Given the description of an element on the screen output the (x, y) to click on. 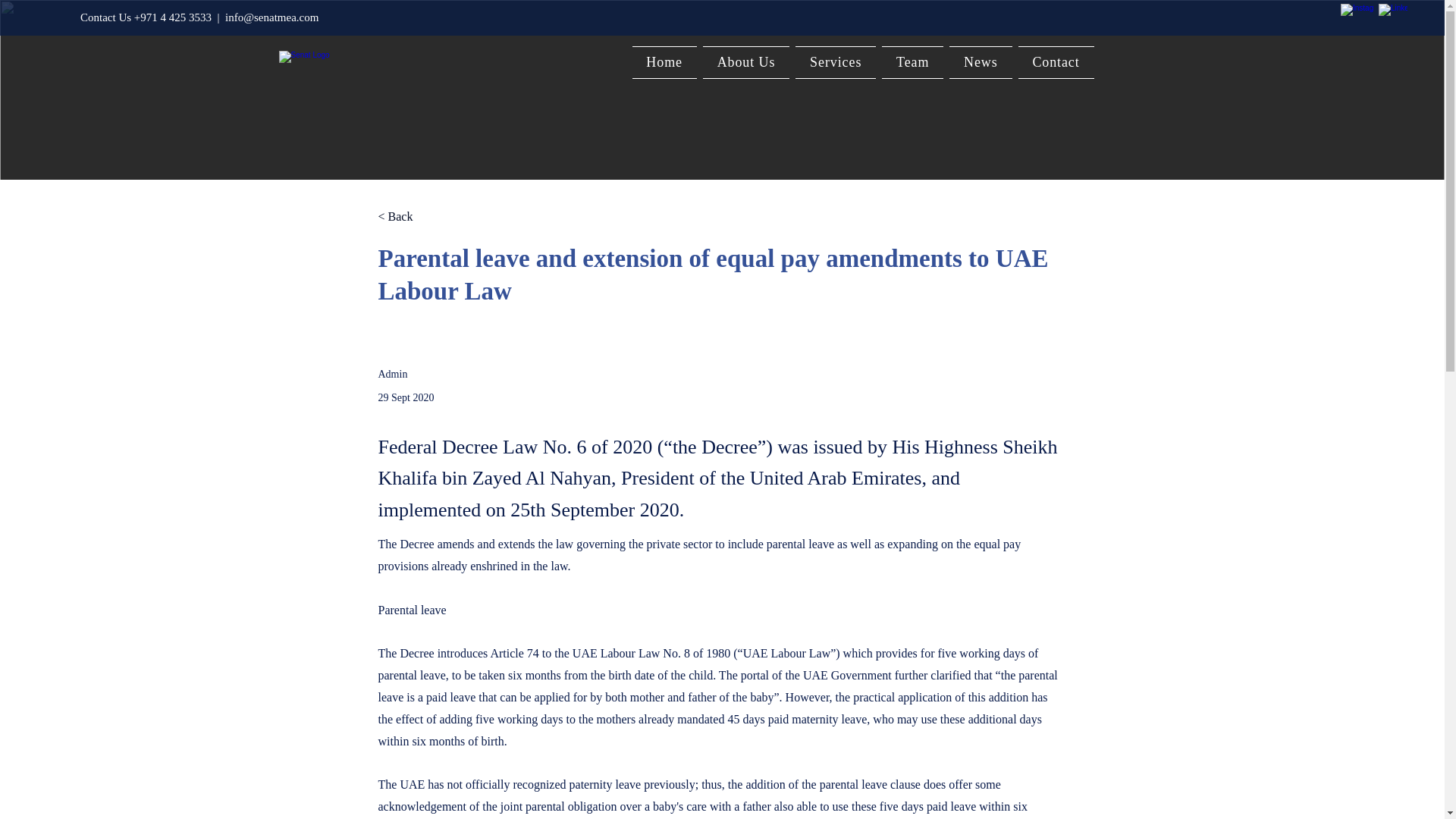
About Us (746, 61)
Home (664, 61)
Services (835, 61)
Team (912, 61)
Contact (1055, 61)
News (980, 61)
